Given the description of an element on the screen output the (x, y) to click on. 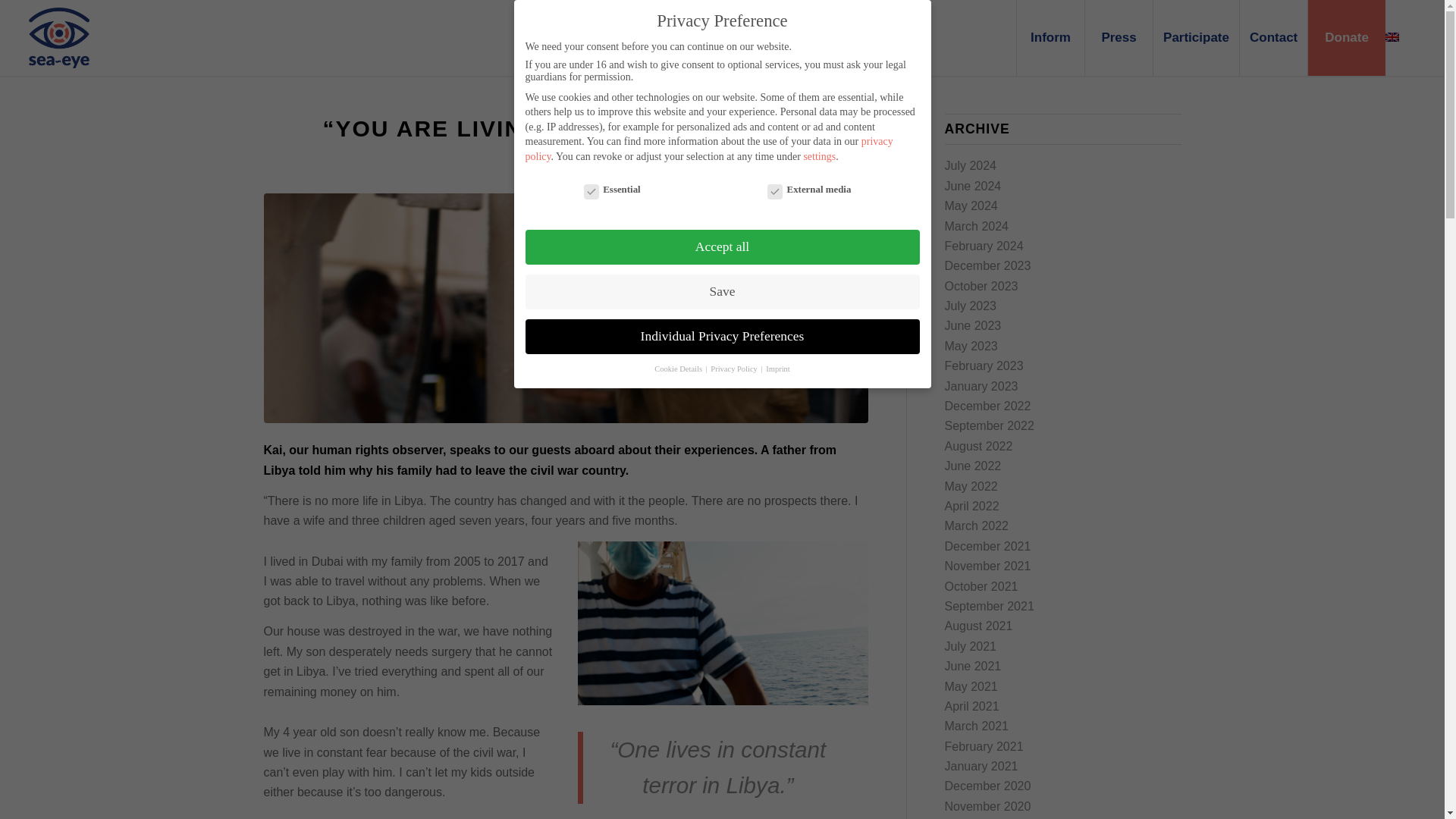
Participate (1196, 38)
December 2023 (987, 265)
June 2023 (972, 325)
February 2024 (983, 245)
June 2024 (972, 185)
May 2023 (970, 345)
March 2024 (976, 226)
October 2023 (980, 286)
July 2023 (970, 305)
Press (1118, 38)
Donate (1346, 38)
Inform (1050, 38)
Sea-Eye Logo (58, 37)
May 2024 (970, 205)
